Given the description of an element on the screen output the (x, y) to click on. 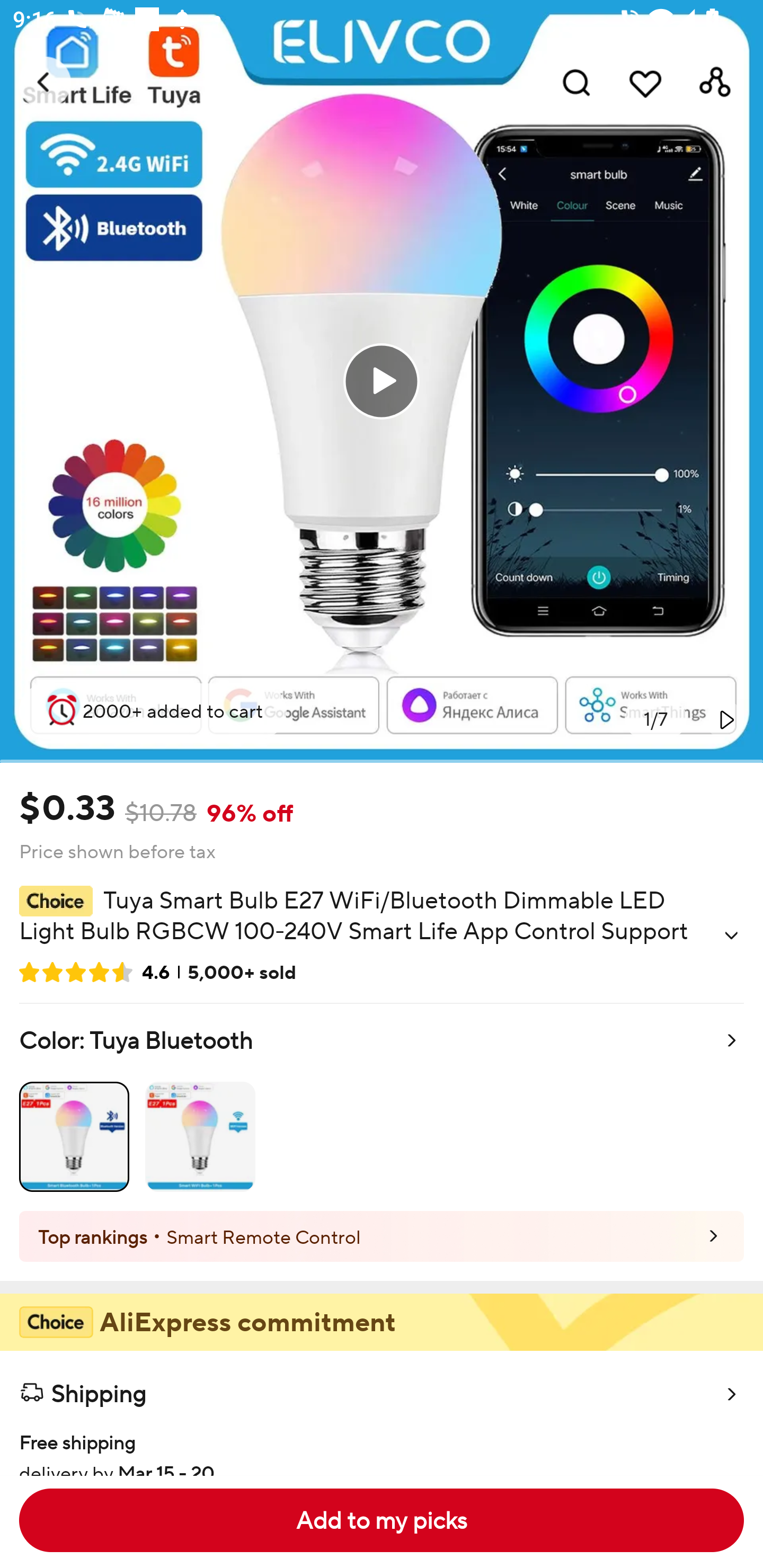
0.0 (381, 381)
Navigate up (44, 82)
 (724, 719)
 (730, 935)
Color: Tuya Bluetooth  (381, 1106)
Shipping  Free shipping  delivery by Mar 15 - 20  (381, 1412)
Free shipping  delivery by Mar 15 - 20  (381, 1444)
Add to my picks (381, 1520)
